Given the description of an element on the screen output the (x, y) to click on. 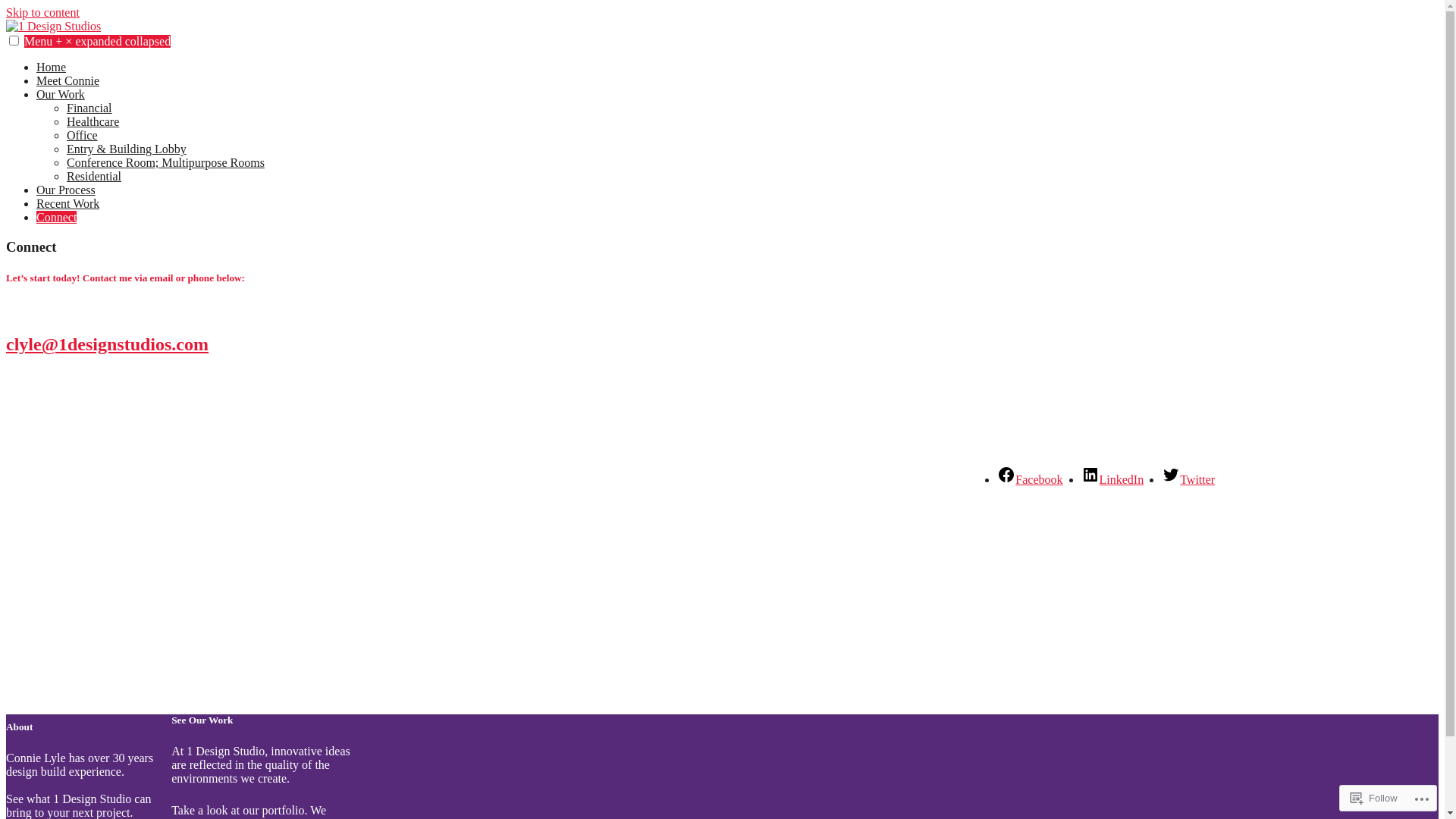
clyle@1designstudios.com Element type: text (107, 344)
Meet Connie Element type: text (67, 80)
Our Work Element type: text (60, 93)
Office Element type: text (81, 134)
Entry & Building Lobby Element type: text (126, 148)
Recent Work Element type: text (67, 203)
Conference Room; Multipurpose Rooms Element type: text (165, 162)
Residential Element type: text (93, 175)
Healthcare Element type: text (92, 121)
Facebook Element type: text (1029, 479)
Our Process Element type: text (65, 189)
Connect Element type: text (56, 216)
Financial Element type: text (89, 107)
Home Element type: text (50, 66)
Skip to content Element type: text (42, 12)
1 Design Studios Element type: text (47, 51)
Follow Element type: text (1373, 797)
LinkedIn Element type: text (1112, 479)
Twitter Element type: text (1187, 479)
